Given the description of an element on the screen output the (x, y) to click on. 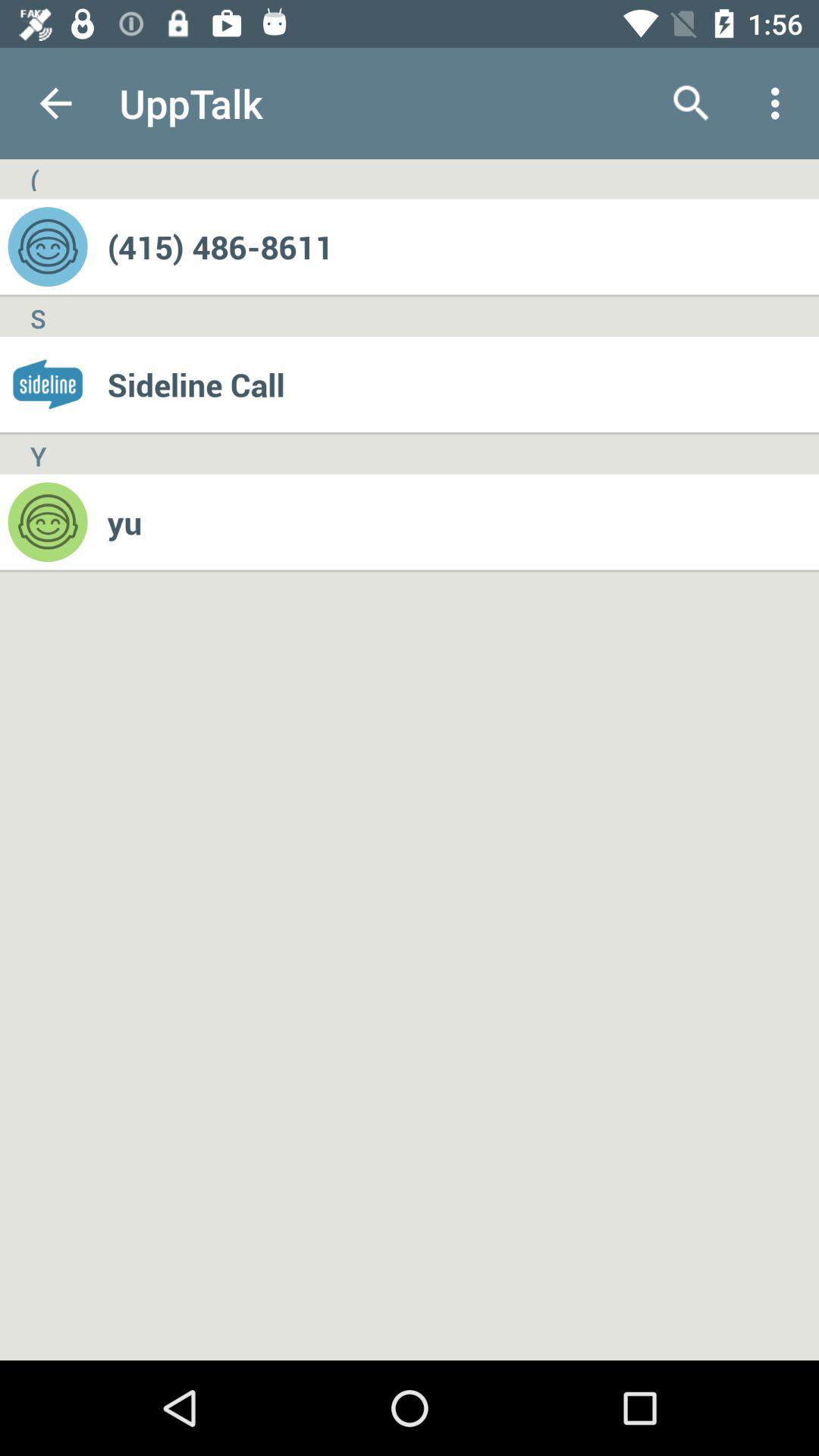
press the sideline call item (463, 384)
